Given the description of an element on the screen output the (x, y) to click on. 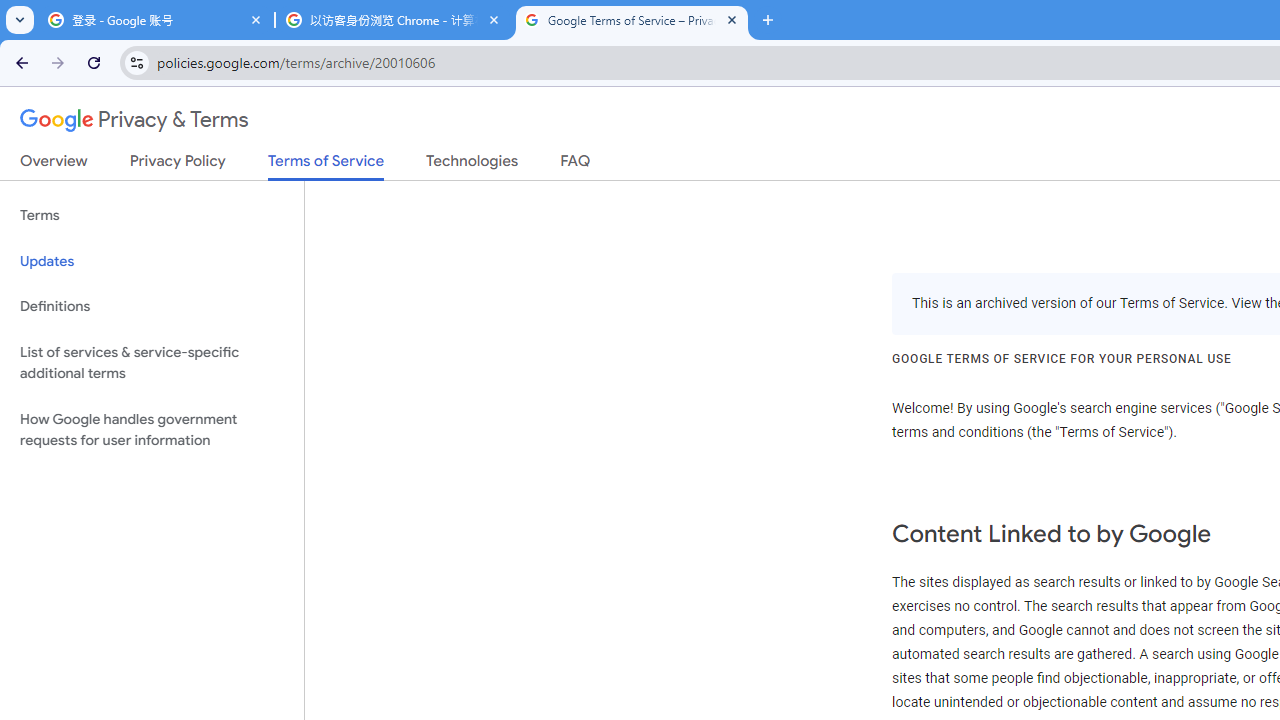
Definitions (152, 306)
List of services & service-specific additional terms (152, 362)
